Given the description of an element on the screen output the (x, y) to click on. 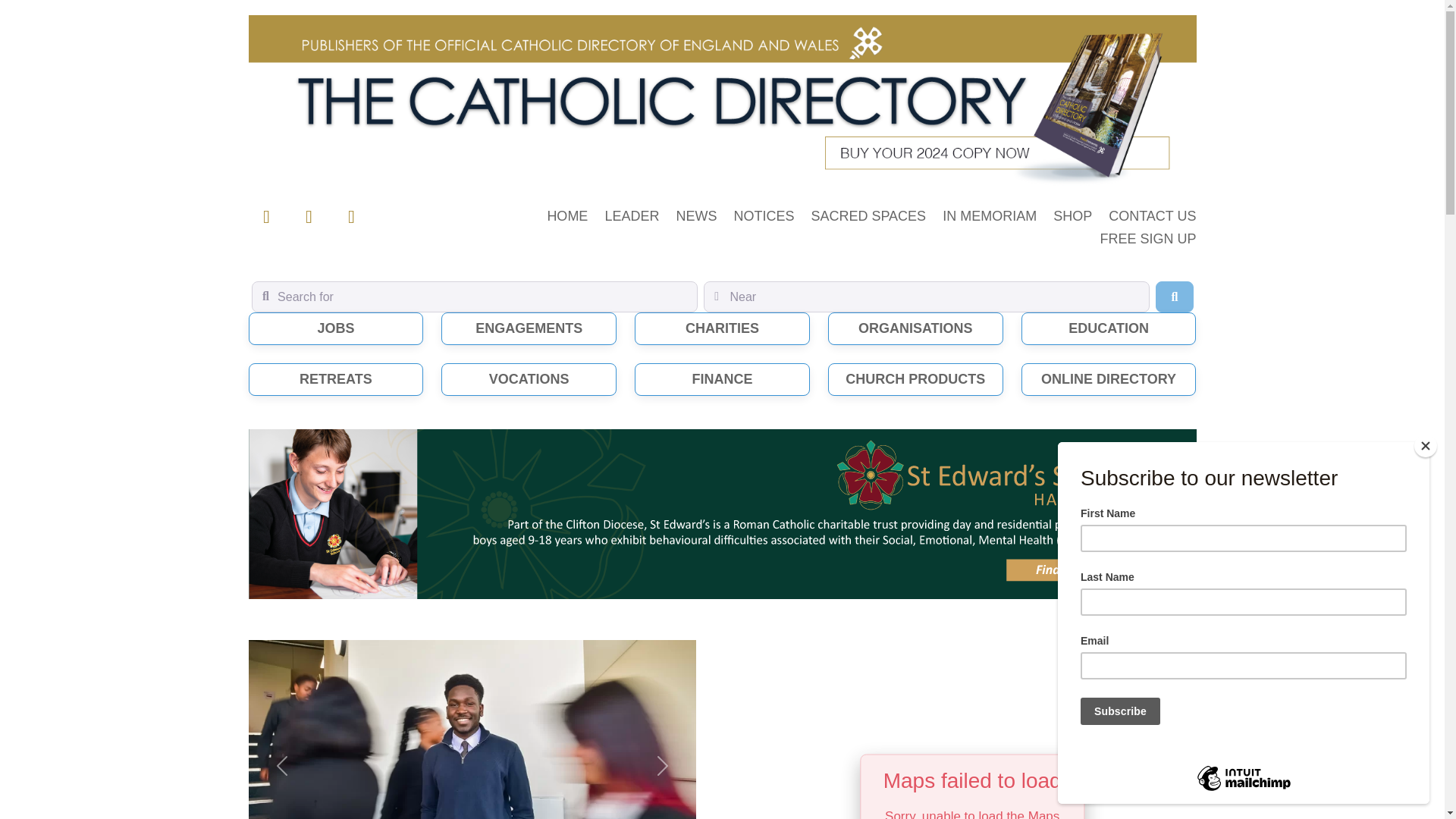
SACRED SPACES (868, 218)
NEWS (695, 218)
EDUCATION (1108, 328)
Follow on Facebook (266, 217)
VOCATIONS (529, 378)
FREE SIGN UP (1147, 241)
Expand sub-categories (915, 378)
LEADER (631, 218)
ORGANISATIONS (915, 328)
ENGAGEMENTS (529, 328)
RETREATS (335, 378)
FINANCE (721, 378)
CONTACT US (1151, 218)
Search (1174, 296)
NOTICES (763, 218)
